Given the description of an element on the screen output the (x, y) to click on. 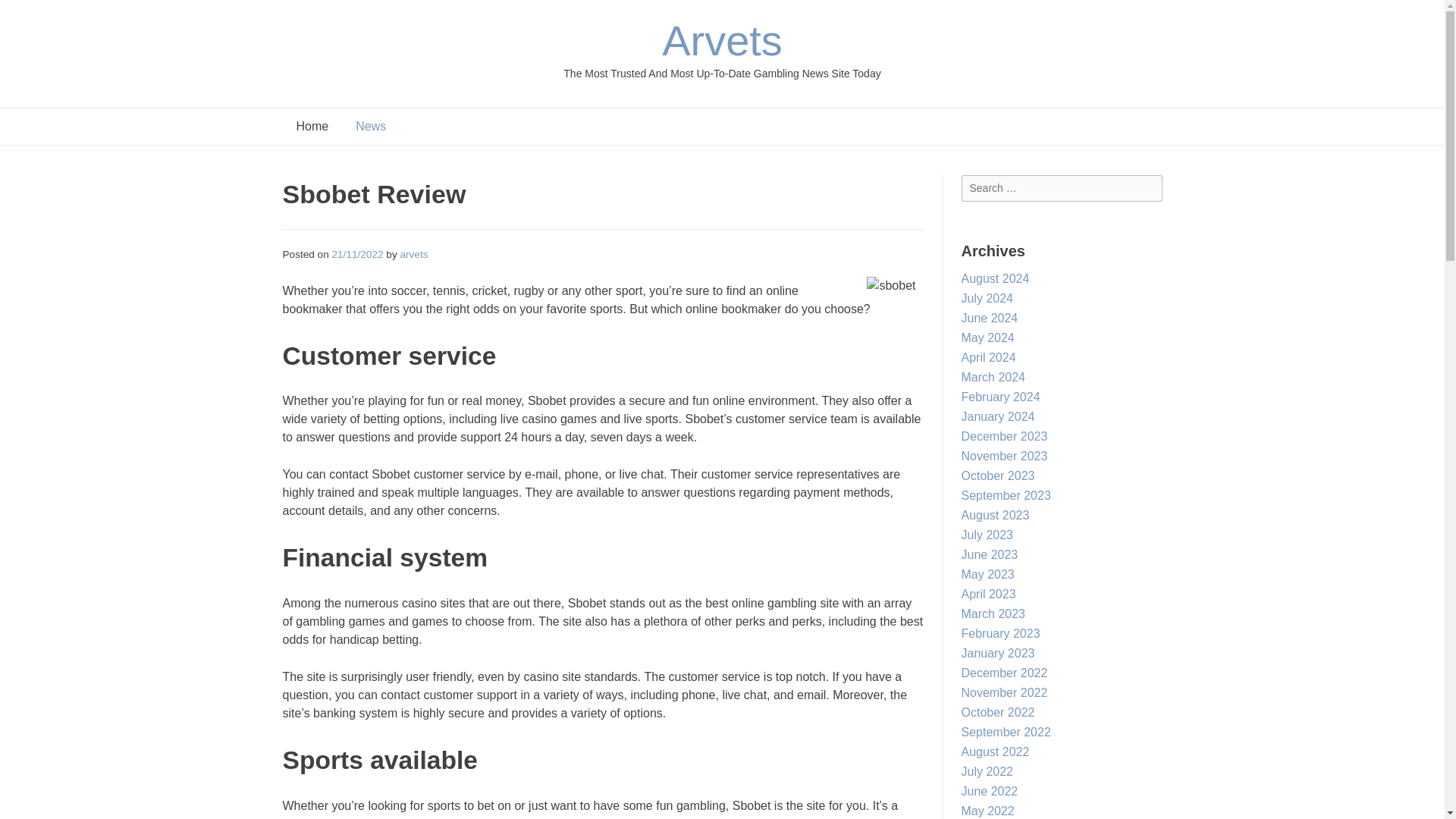
November 2022 (1004, 692)
August 2024 (994, 278)
October 2023 (997, 475)
February 2023 (1000, 633)
May 2024 (987, 337)
Arvets (722, 40)
June 2023 (988, 554)
July 2024 (986, 297)
Home (312, 126)
July 2022 (986, 771)
